Given the description of an element on the screen output the (x, y) to click on. 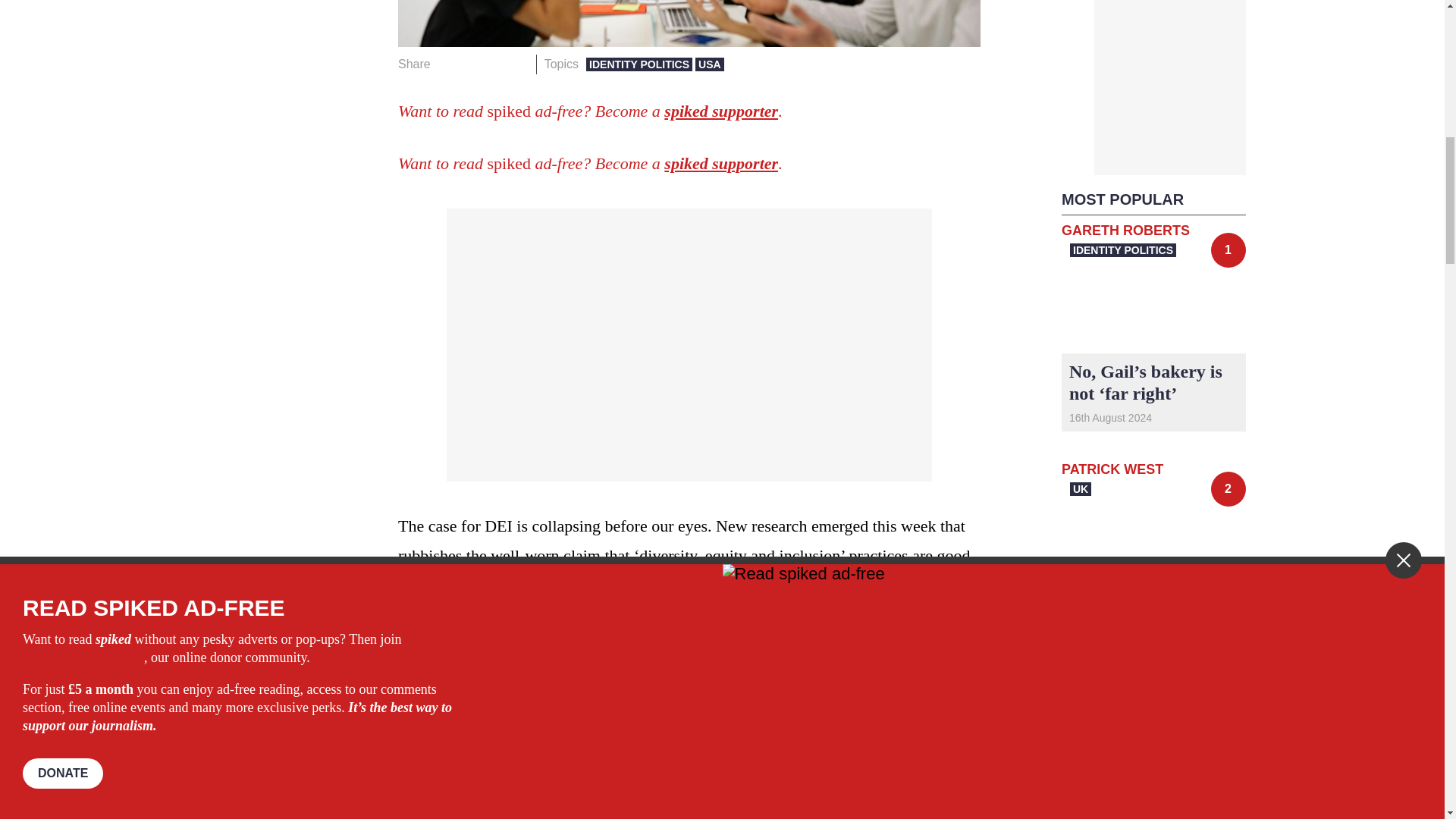
Share on Email (518, 64)
Share on Facebook (448, 64)
Share on Whatsapp (494, 64)
Share on Twitter (471, 64)
